Given the description of an element on the screen output the (x, y) to click on. 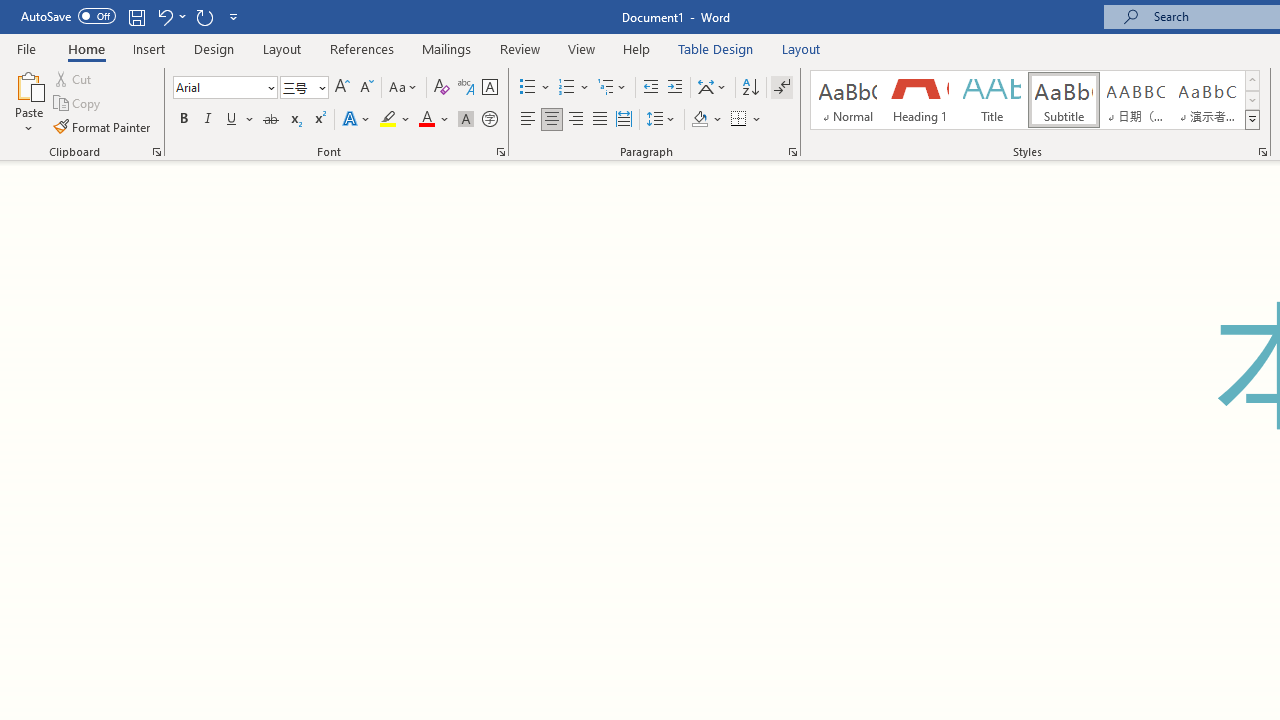
Title (991, 100)
Undo Paste (170, 15)
